Given the description of an element on the screen output the (x, y) to click on. 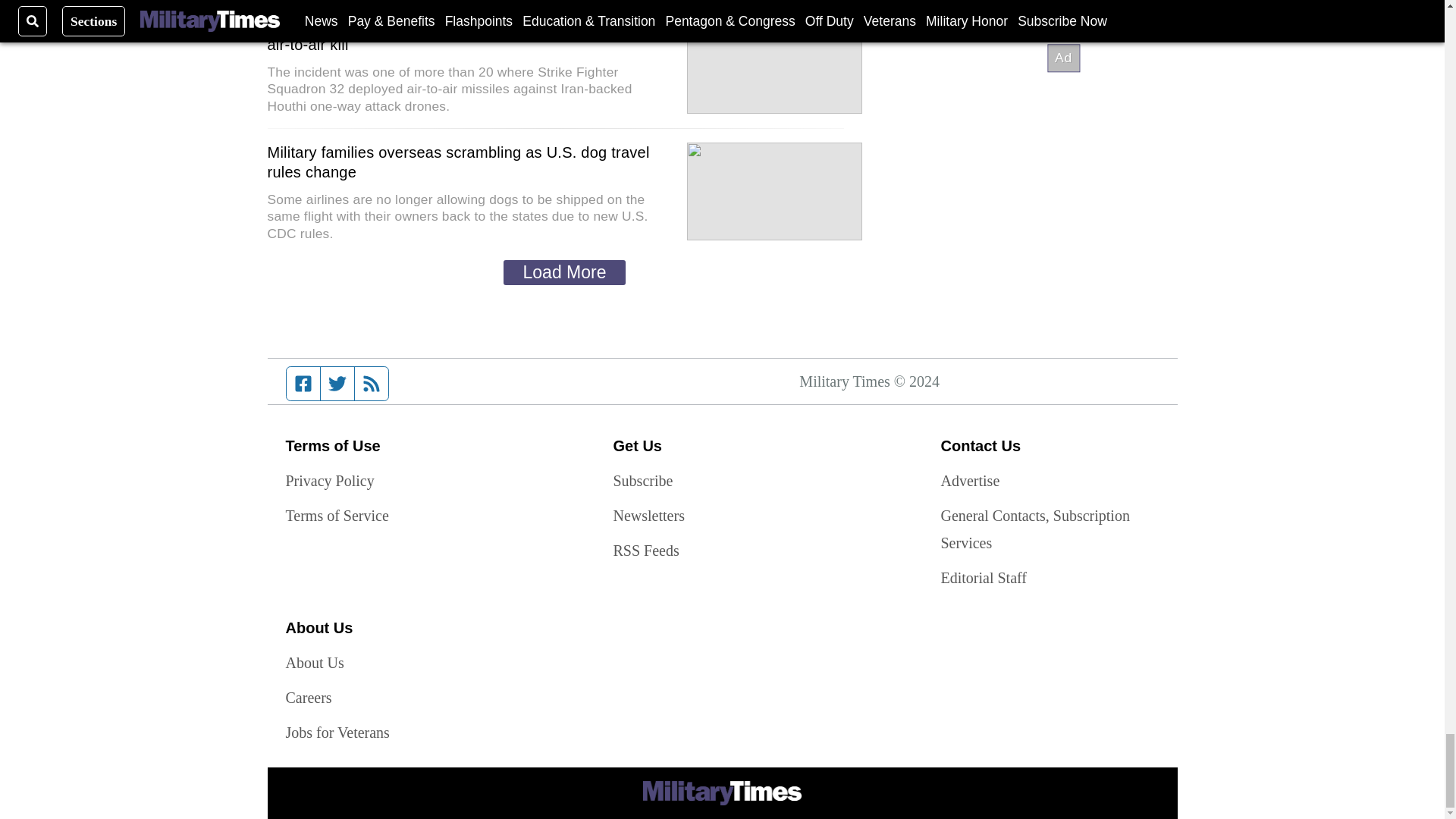
RSS feed (371, 383)
Twitter feed (336, 383)
Facebook page (303, 383)
